Given the description of an element on the screen output the (x, y) to click on. 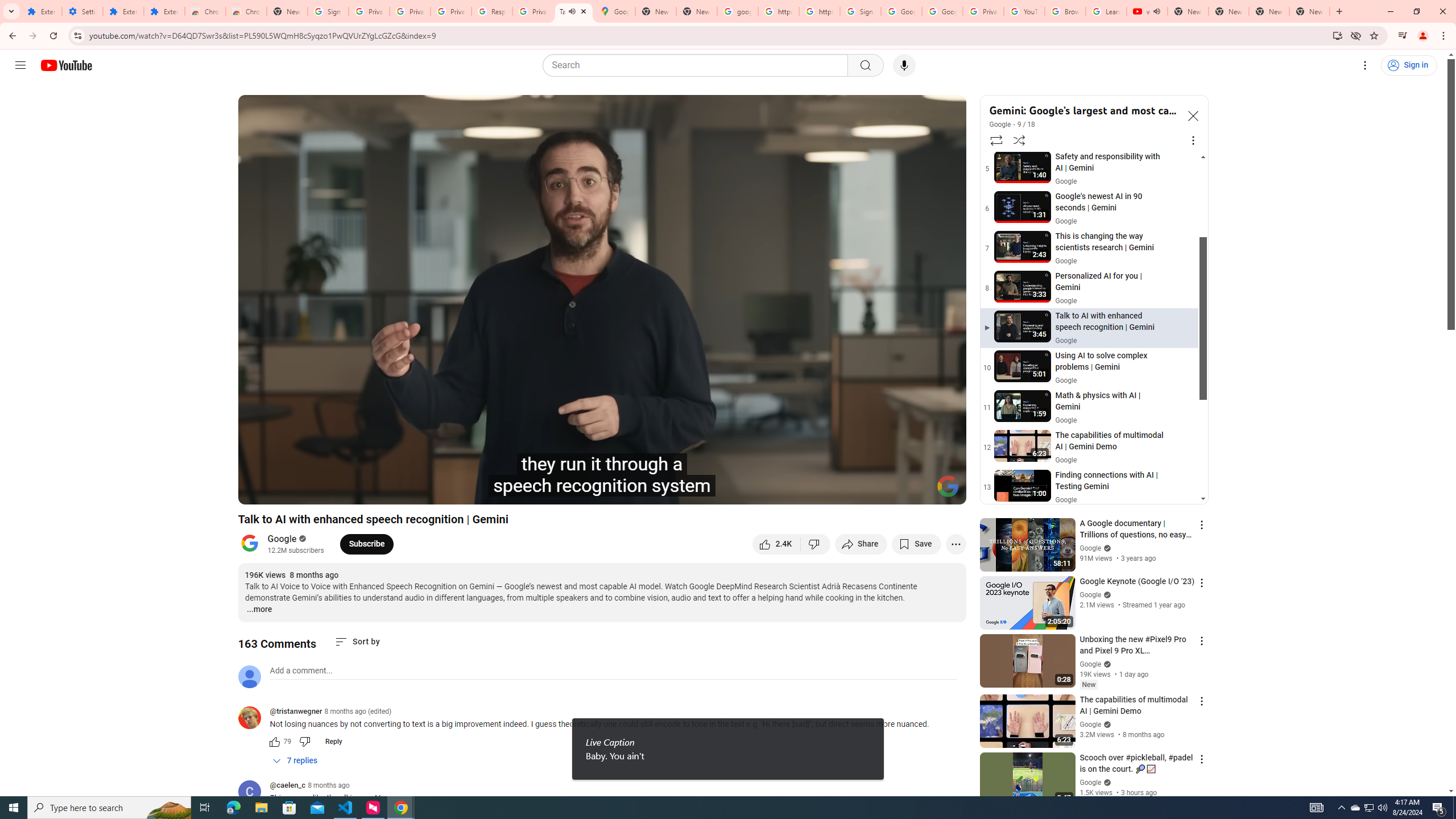
@caelen_c (253, 792)
Action menu (1200, 758)
Like this comment along with 79 other people (273, 741)
Play (k) (285, 490)
More actions (955, 543)
Settings (81, 11)
Subscribe to Google. (366, 543)
@tristanwegner (253, 717)
